Given the description of an element on the screen output the (x, y) to click on. 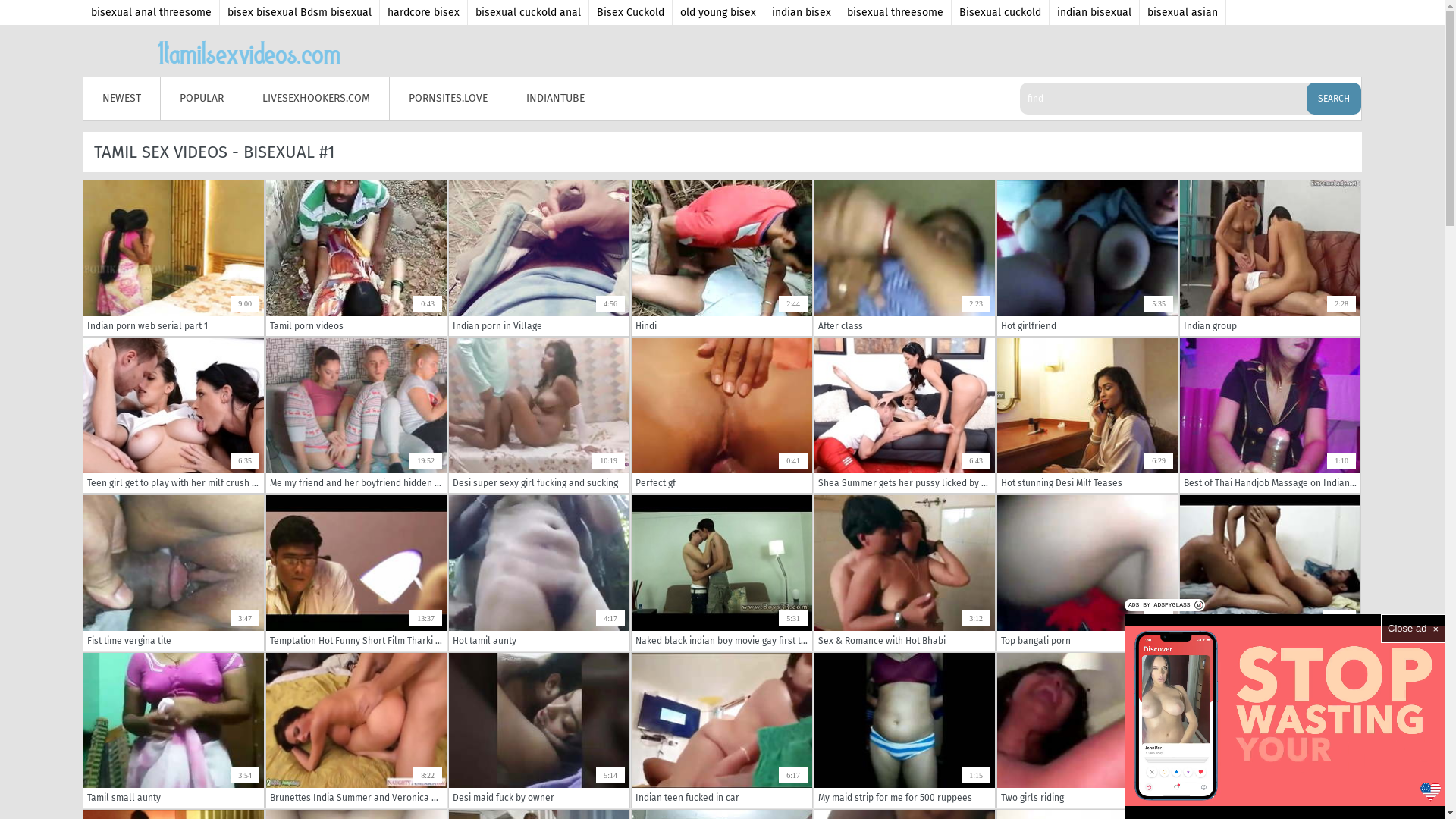
5:01
Stepmom Melanie Raine Teaches Stepdaughter India Summer Element type: text (1269, 729)
LIVESEXHOOKERS.COM Element type: text (316, 98)
POPULAR Element type: text (201, 98)
hardcore bisex Element type: text (423, 12)
4:17
Hot tamil aunty Element type: text (538, 572)
2:23
After class Element type: text (904, 257)
PORNSITES.LOVE Element type: text (448, 98)
indian bisexual Element type: text (1094, 12)
0:41
Perfect gf Element type: text (721, 415)
SEARCH Element type: text (1333, 98)
1:15
My maid strip for me for 500 ruppees Element type: text (904, 729)
old young bisex Element type: text (718, 12)
10:19
Desi super sexy girl fucking and sucking Element type: text (538, 415)
3:12
Sex & Romance with Hot Bhabi Element type: text (904, 572)
Bisexual cuckold Element type: text (1000, 12)
bisexual cuckold anal Element type: text (528, 12)
INDIANTUBE Element type: text (555, 98)
0:43
Tamil porn videos Element type: text (356, 257)
6:17
Indian teen fucked in car Element type: text (721, 729)
1:51
Two girls riding Element type: text (1087, 729)
bisexual threesome Element type: text (895, 12)
bisexual asian Element type: text (1182, 12)
9:00
Indian porn web serial part 1 Element type: text (173, 257)
14:18
Delhi couple with audio Element type: text (1269, 572)
ADS BY ADSPYGLASS Element type: text (1164, 605)
3:47
Fist time vergina tite Element type: text (173, 572)
bisexual anal threesome Element type: text (151, 12)
Bisex Cuckold Element type: text (630, 12)
6:43
Shea Summer gets her pussy licked by MILF India Summers Element type: text (904, 415)
5:35
Hot girlfriend Element type: text (1087, 257)
6:29
Hot stunning Desi Milf Teases Element type: text (1087, 415)
4:56
Indian porn in Village Element type: text (538, 257)
3:54
Tamil small aunty Element type: text (173, 729)
bisex bisexual Bdsm bisexual Element type: text (299, 12)
5:14
Desi maid fuck by owner Element type: text (538, 729)
2:44
Hindi Element type: text (721, 257)
6:35
Teen girl get to play with her milf crush India Summer Element type: text (173, 415)
indian bisex Element type: text (801, 12)
2:28
Indian group Element type: text (1269, 257)
7:52
Top bangali porn Element type: text (1087, 572)
1:10
Best of Thai Handjob Massage on Indian Cock - Part 1 Element type: text (1269, 415)
NEWEST Element type: text (121, 98)
